Given the description of an element on the screen output the (x, y) to click on. 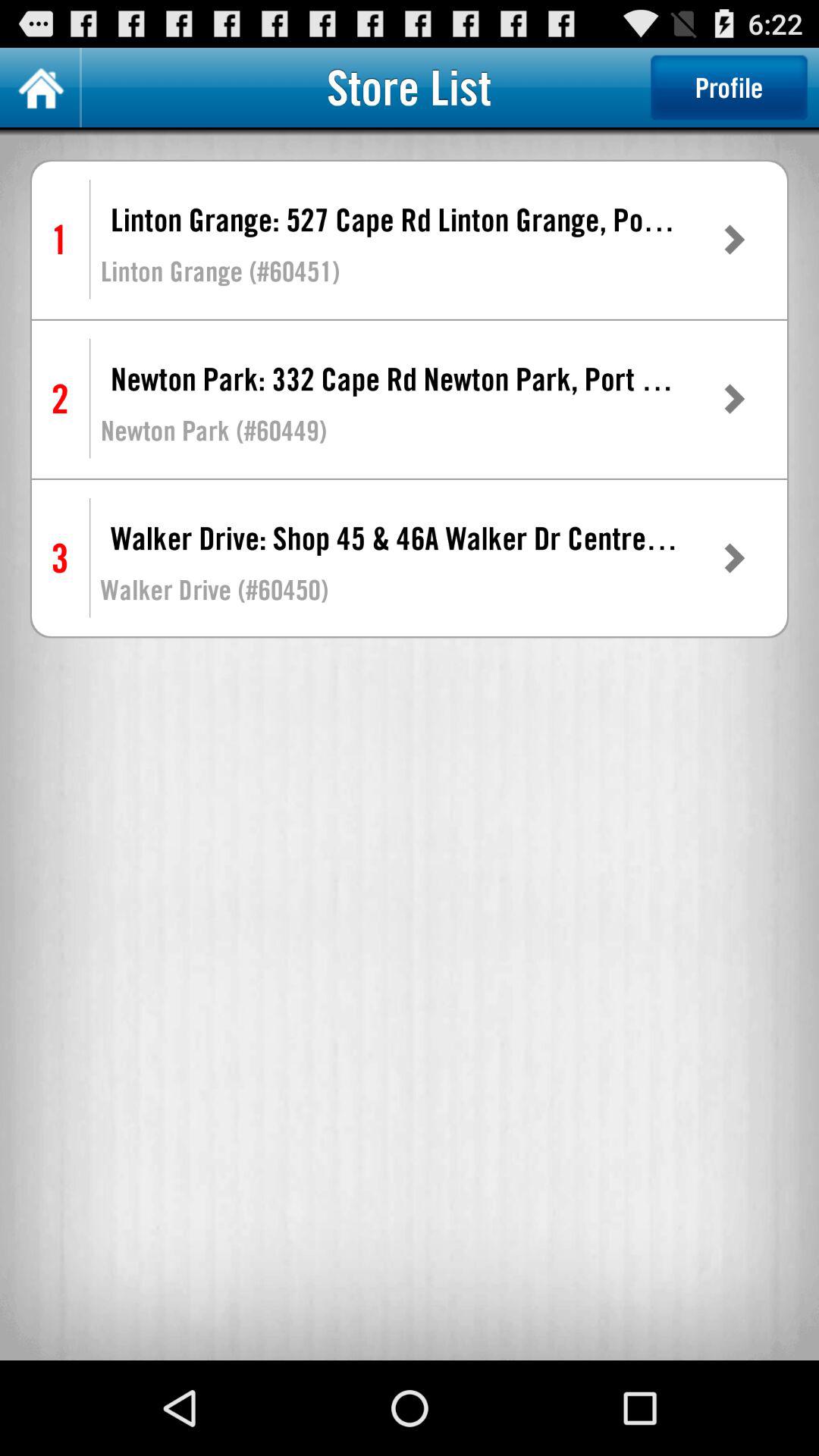
choose item next to the store list app (728, 87)
